Given the description of an element on the screen output the (x, y) to click on. 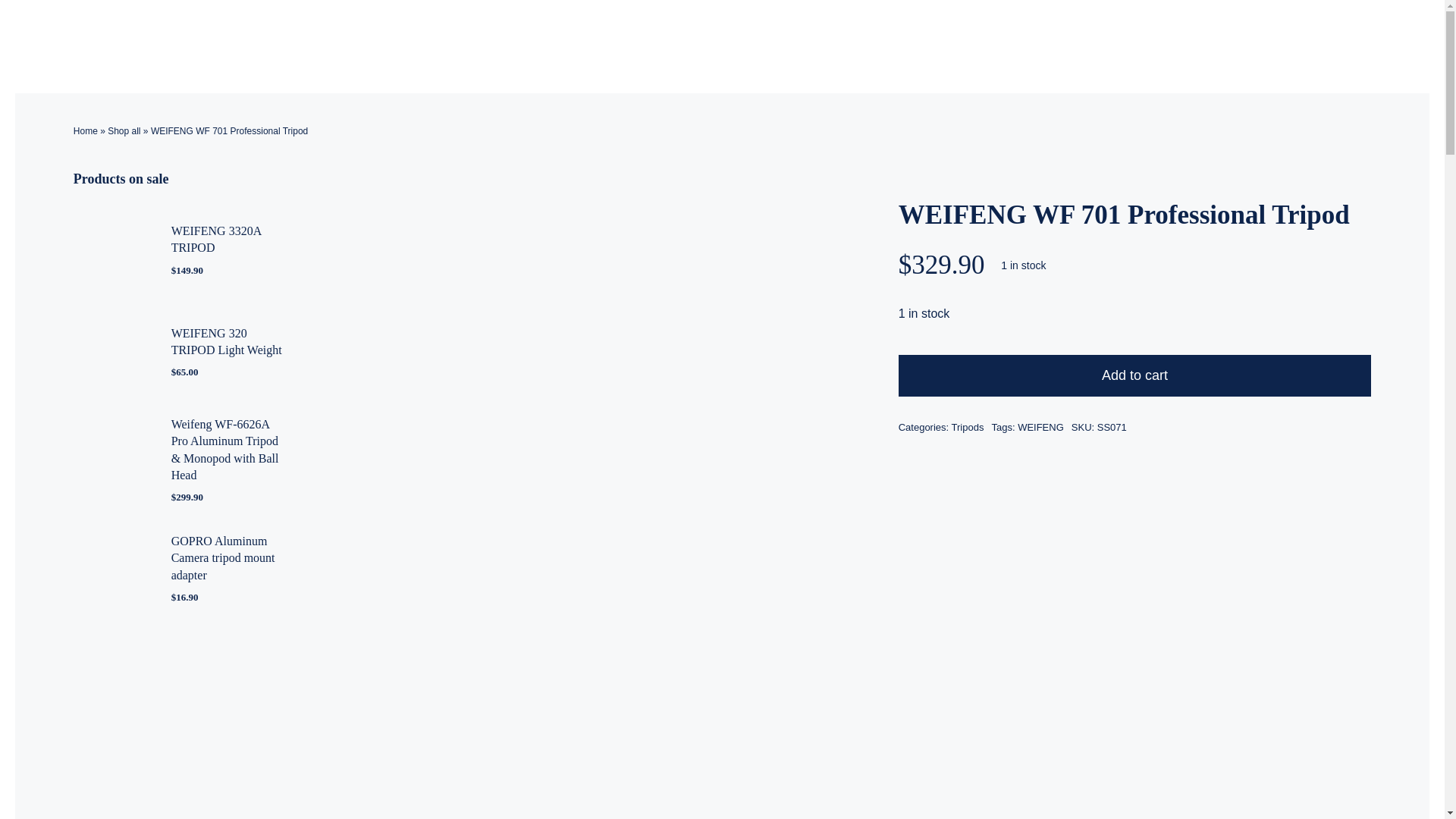
EGIFTS 5 (111, 454)
EGIFTS GOPRO ADAPTOR6 (111, 567)
WeiFeng 3320A Camera Tripod7 (111, 250)
WeiFeng WF-3320A Professional photographic Camera Tripod7 (111, 351)
